Given the description of an element on the screen output the (x, y) to click on. 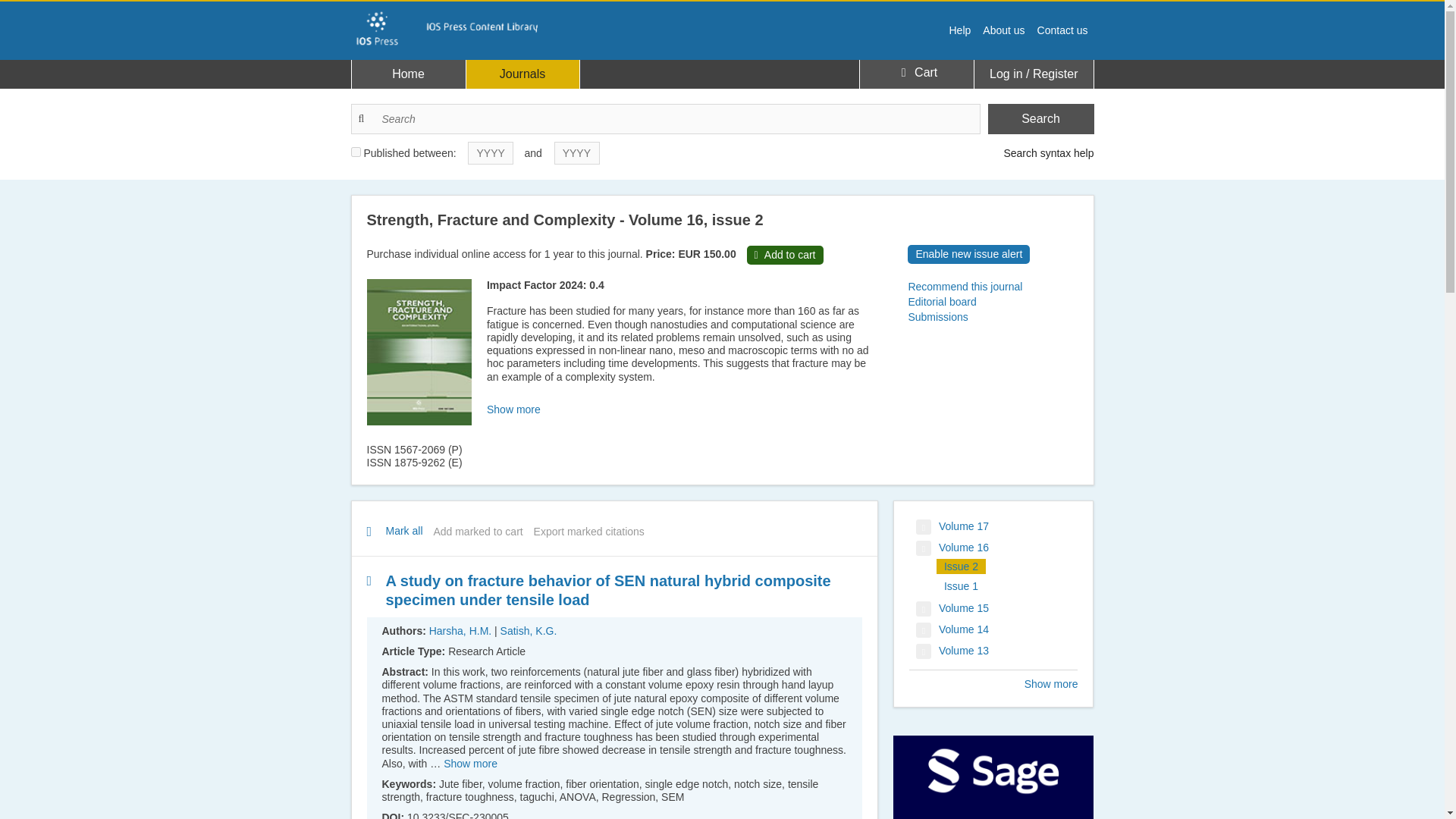
Home (453, 27)
Add to cart (785, 254)
Home (408, 73)
Press to access issues within this volume (951, 651)
on (354, 152)
Press to access issues within this volume (951, 526)
Recommend this journal (992, 286)
Enable new issue alert (968, 253)
Harsha, H.M. (460, 630)
Contact us (1061, 30)
Search syntax help (1048, 152)
Editorial board (992, 301)
Cart (916, 72)
Mark all (398, 530)
